Given the description of an element on the screen output the (x, y) to click on. 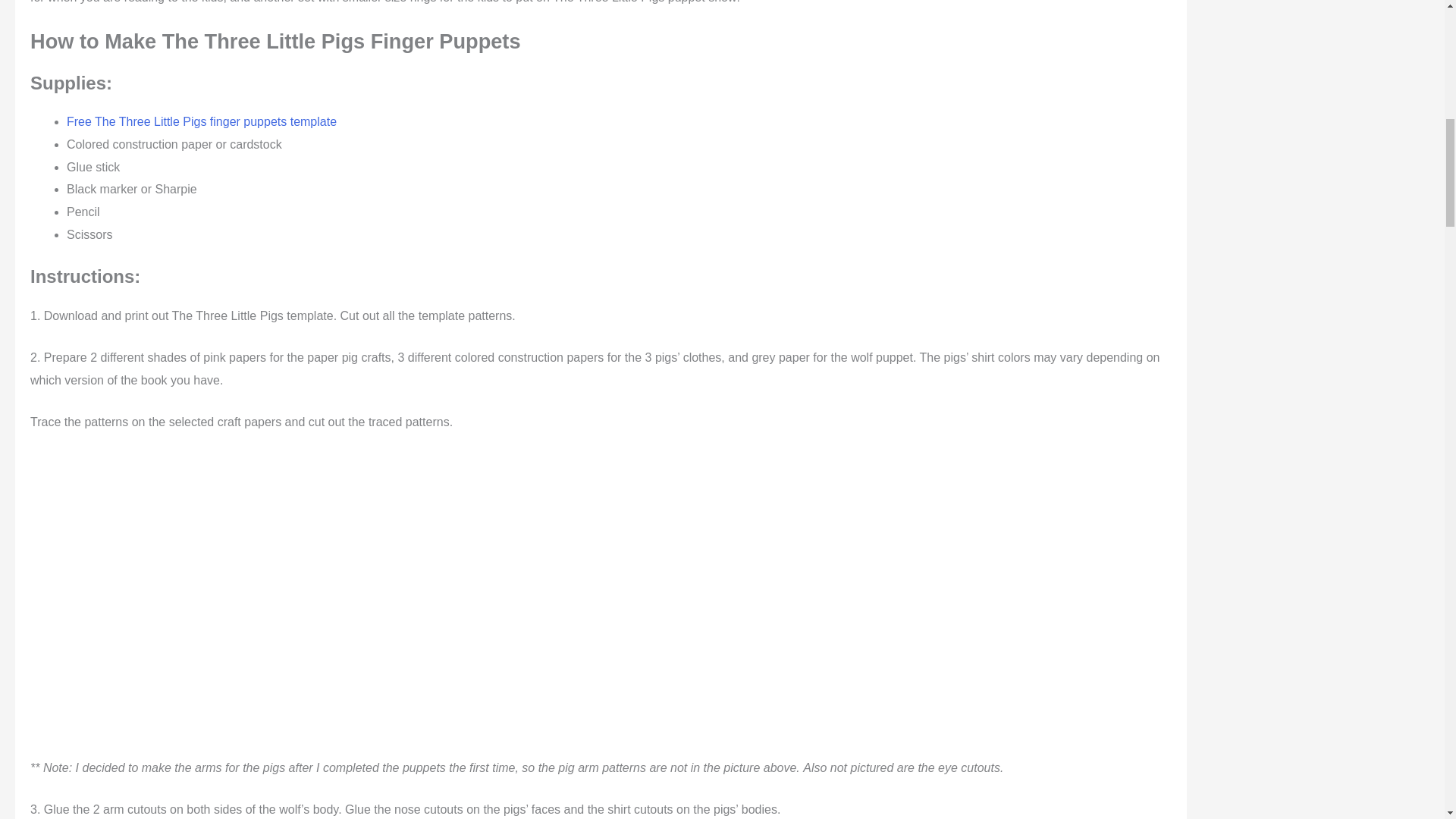
Free The Three Little Pigs finger puppets template (201, 121)
